Given the description of an element on the screen output the (x, y) to click on. 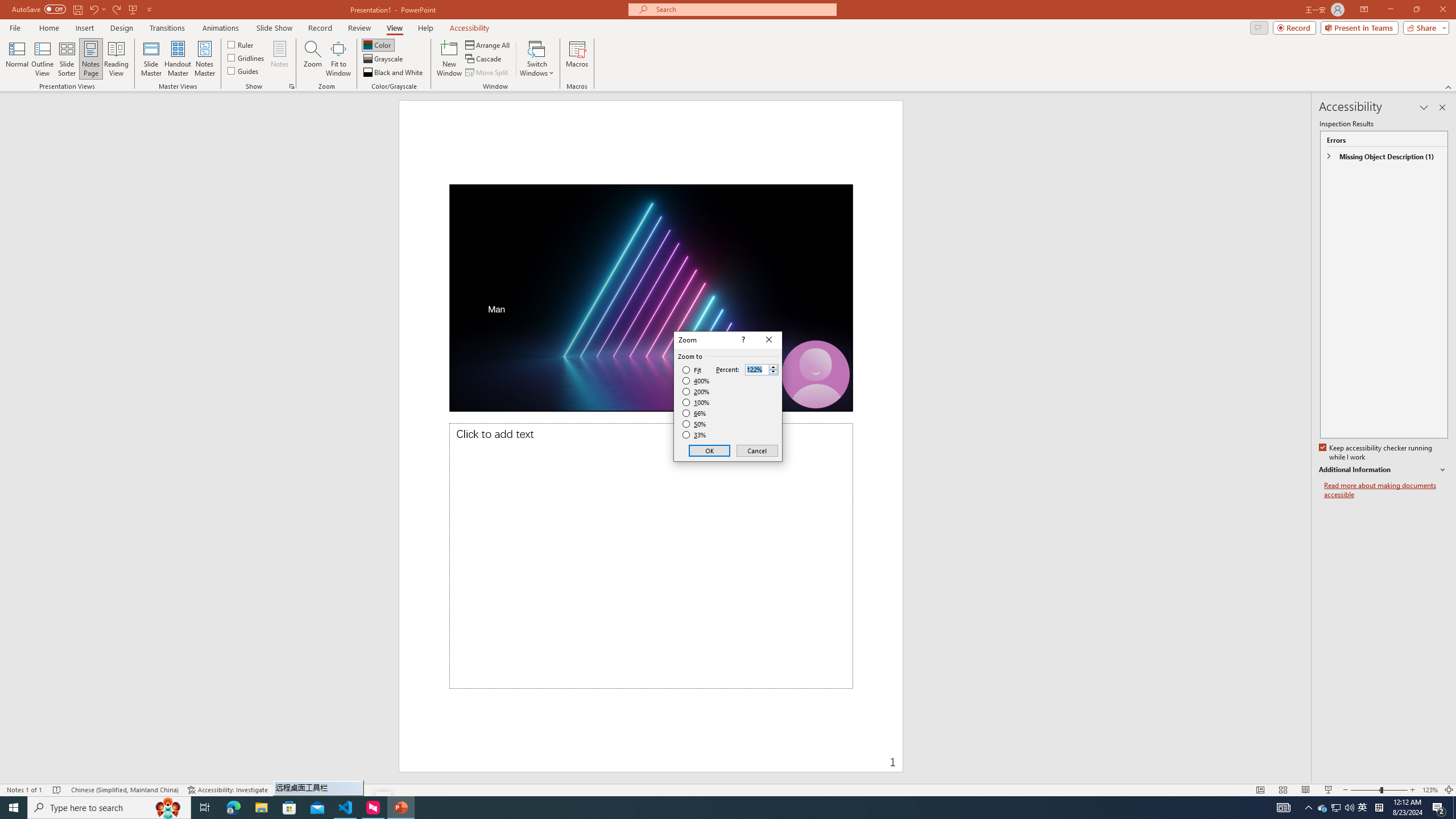
Color (377, 44)
New Window (449, 58)
Zoom 123% (1430, 790)
Switch Windows (537, 58)
